Given the description of an element on the screen output the (x, y) to click on. 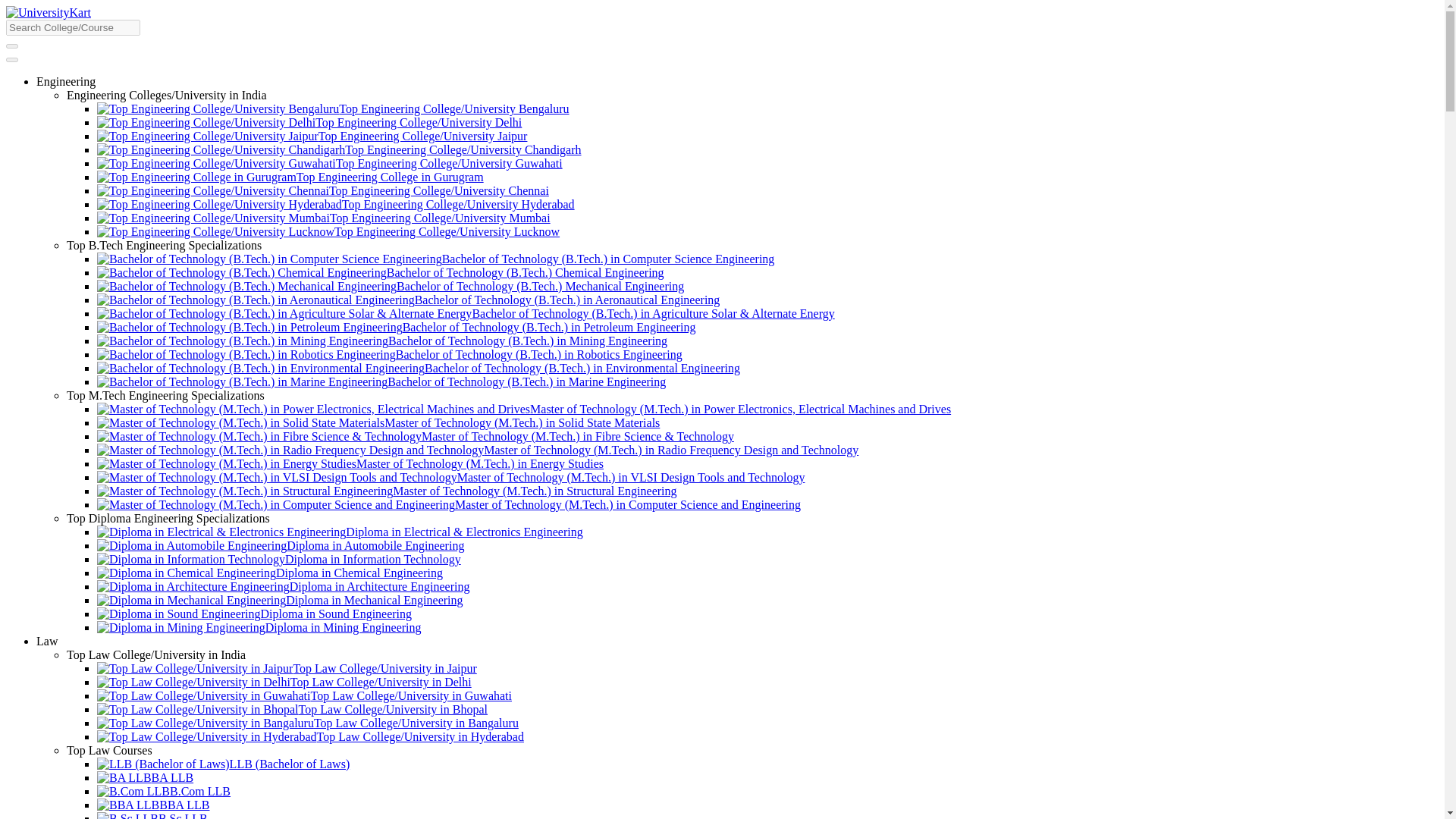
Diploma in Mining Engineering (259, 626)
Diploma in Automobile Engineering (280, 545)
Diploma in Architecture Engineering (282, 585)
Engineering (66, 81)
Diploma in Information Technology (279, 558)
Diploma in Mechanical Engineering (280, 599)
Top Engineering College in Gurugram (290, 176)
Diploma in Chemical Engineering (269, 572)
Diploma in Sound Engineering (254, 613)
